Given the description of an element on the screen output the (x, y) to click on. 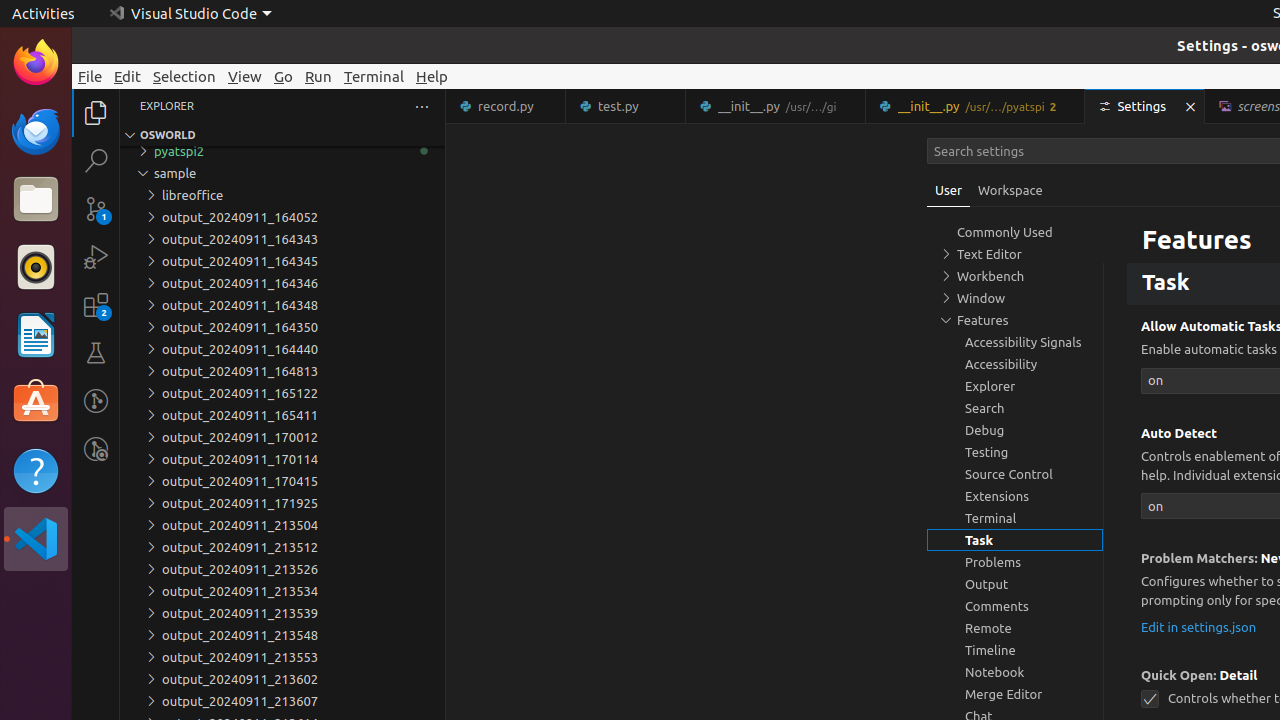
Testing Element type: page-tab (96, 353)
Firefox Web Browser Element type: push-button (36, 63)
output_20240911_164345 Element type: tree-item (282, 261)
Testing, group Element type: tree-item (1015, 452)
GitLens Inspect Element type: page-tab (96, 449)
